Given the description of an element on the screen output the (x, y) to click on. 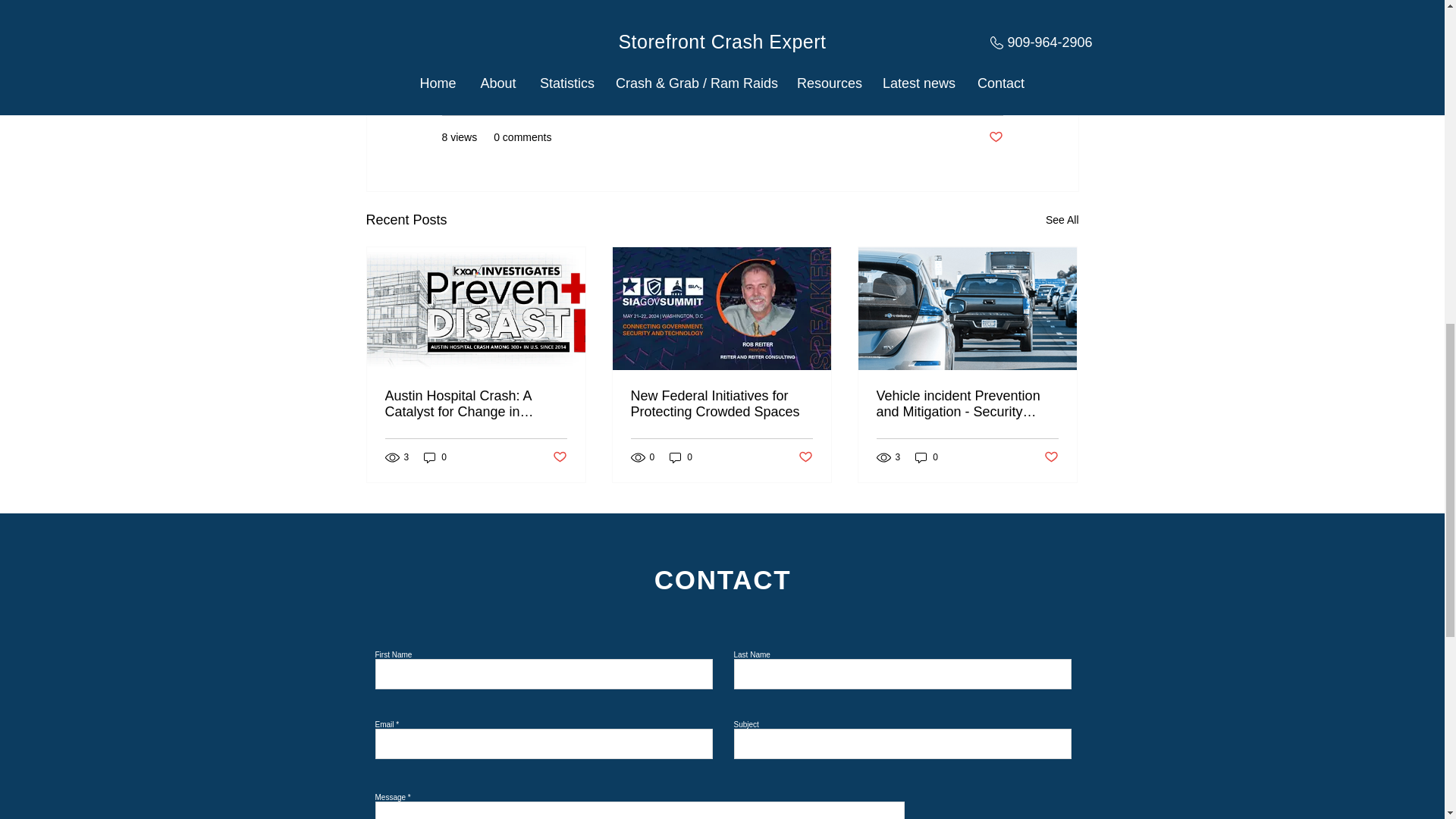
0 (435, 457)
0 (681, 457)
Vehicle incident Prevention and Mitigation - Security Guide (967, 404)
Post not marked as liked (558, 456)
0 (926, 457)
Post not marked as liked (804, 456)
Read full article (488, 20)
New Federal Initiatives for Protecting Crowded Spaces (721, 404)
See All (1061, 219)
Post not marked as liked (1050, 456)
Post not marked as liked (995, 137)
